Given the description of an element on the screen output the (x, y) to click on. 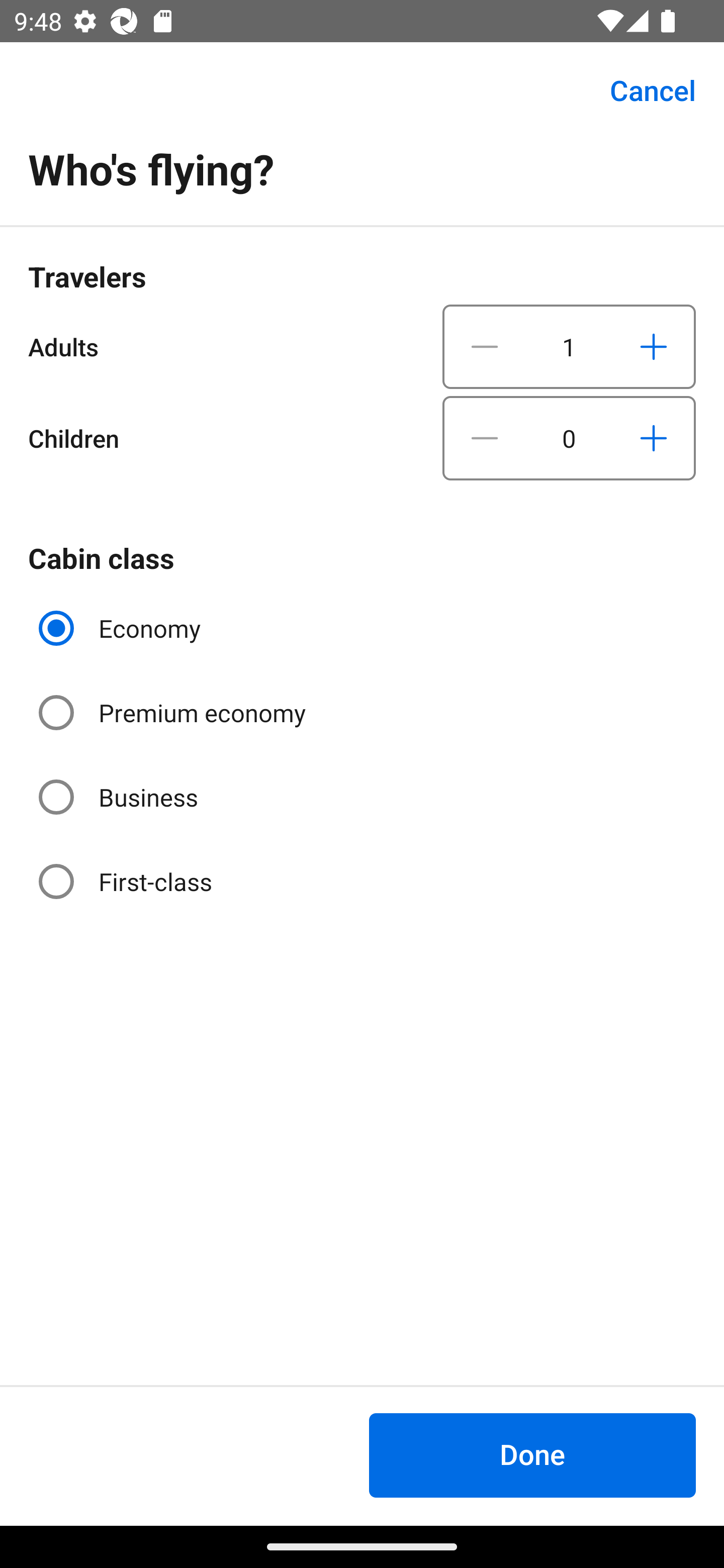
Cancel (641, 90)
Decrease (484, 346)
Increase (653, 346)
Decrease (484, 437)
Increase (653, 437)
Economy (121, 628)
Premium economy (174, 712)
Business (120, 796)
First-class (126, 880)
Done (532, 1454)
